Given the description of an element on the screen output the (x, y) to click on. 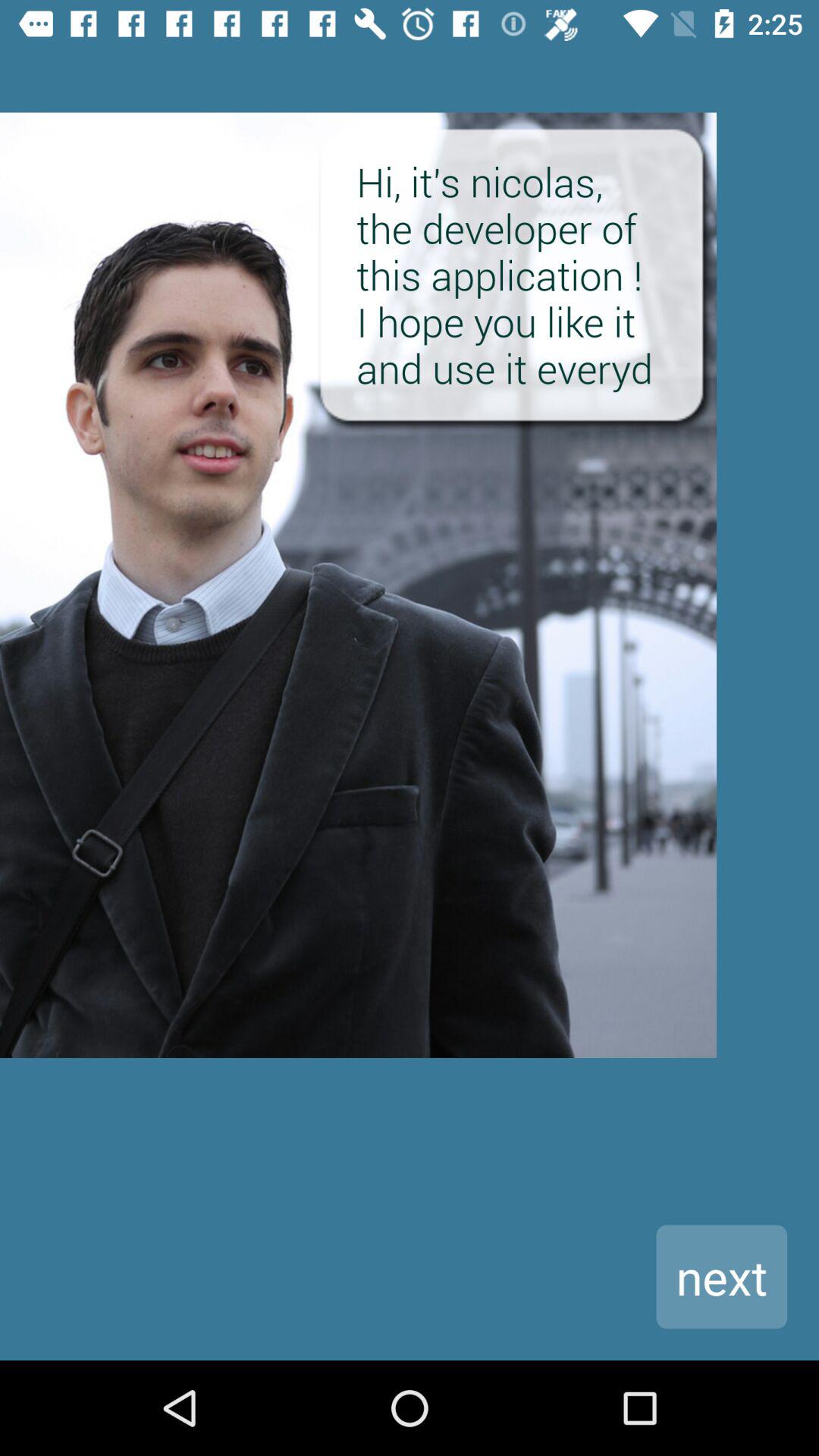
swipe to next button (721, 1276)
